Given the description of an element on the screen output the (x, y) to click on. 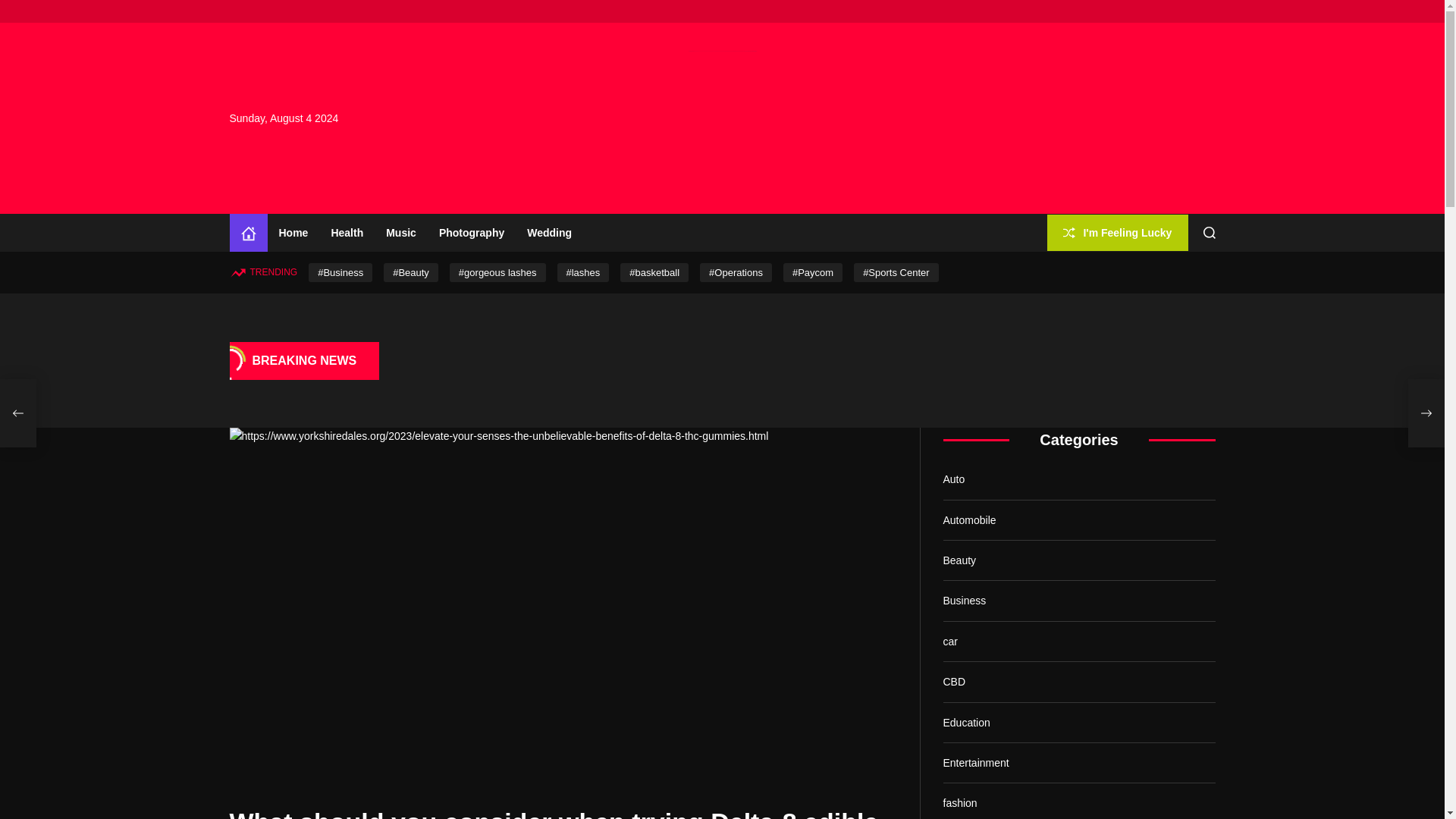
Home (292, 232)
Photography (471, 232)
I'm Feeling Lucky (1117, 232)
Home (247, 232)
Music (401, 232)
Wedding (549, 232)
Health (346, 232)
Search (1209, 232)
